Given the description of an element on the screen output the (x, y) to click on. 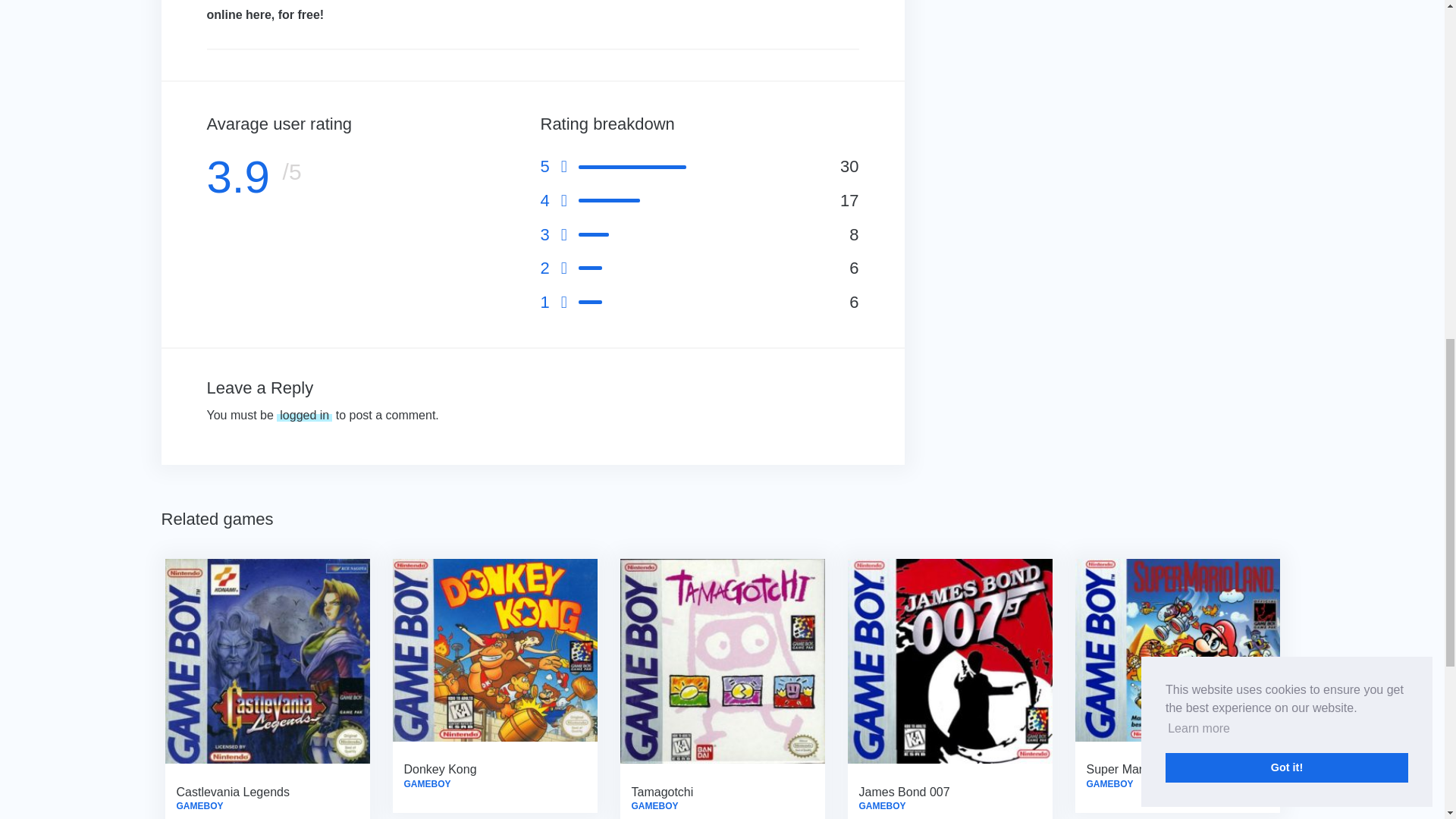
logged in (303, 414)
